Given the description of an element on the screen output the (x, y) to click on. 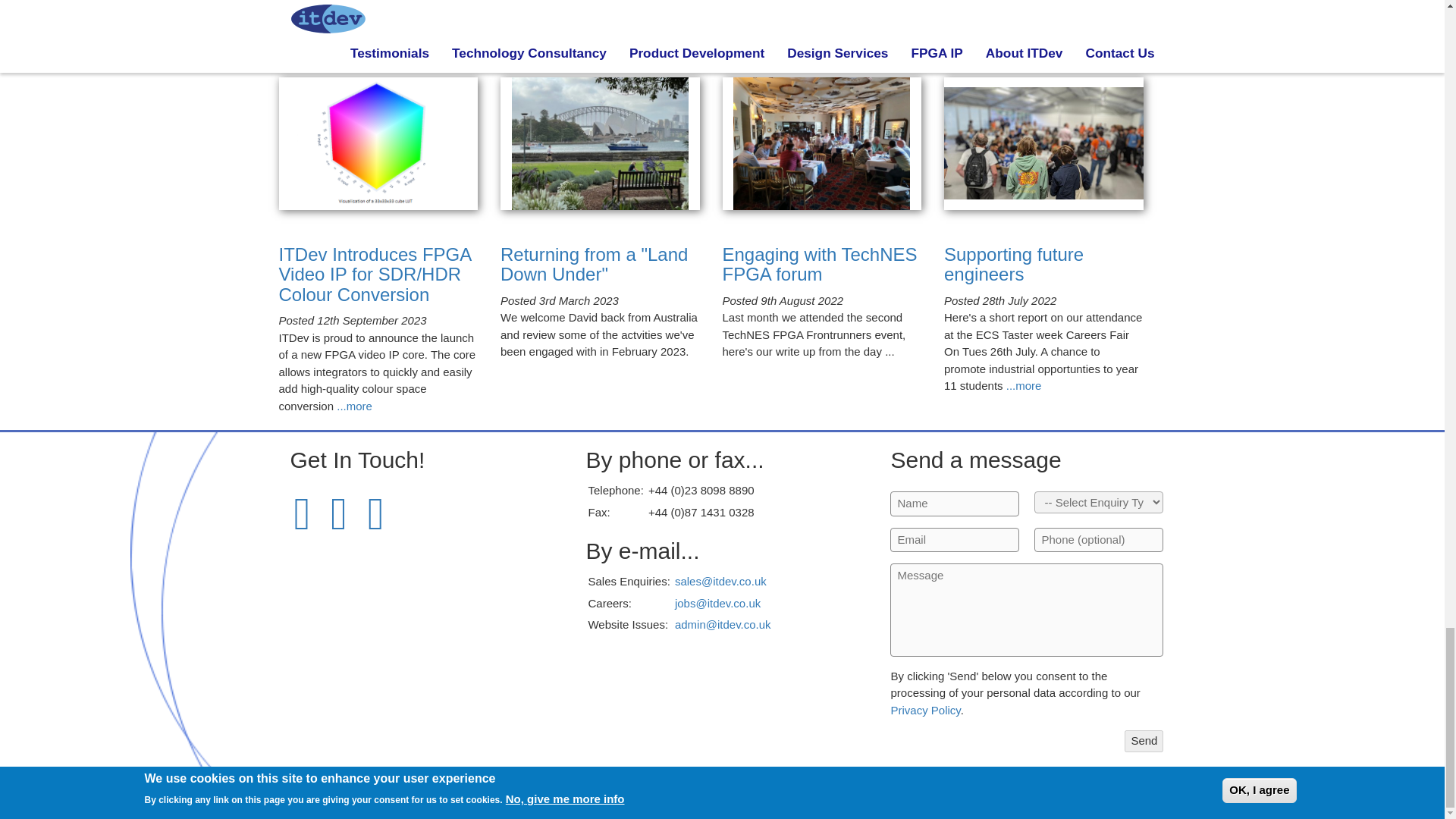
Send (1143, 741)
